Given the description of an element on the screen output the (x, y) to click on. 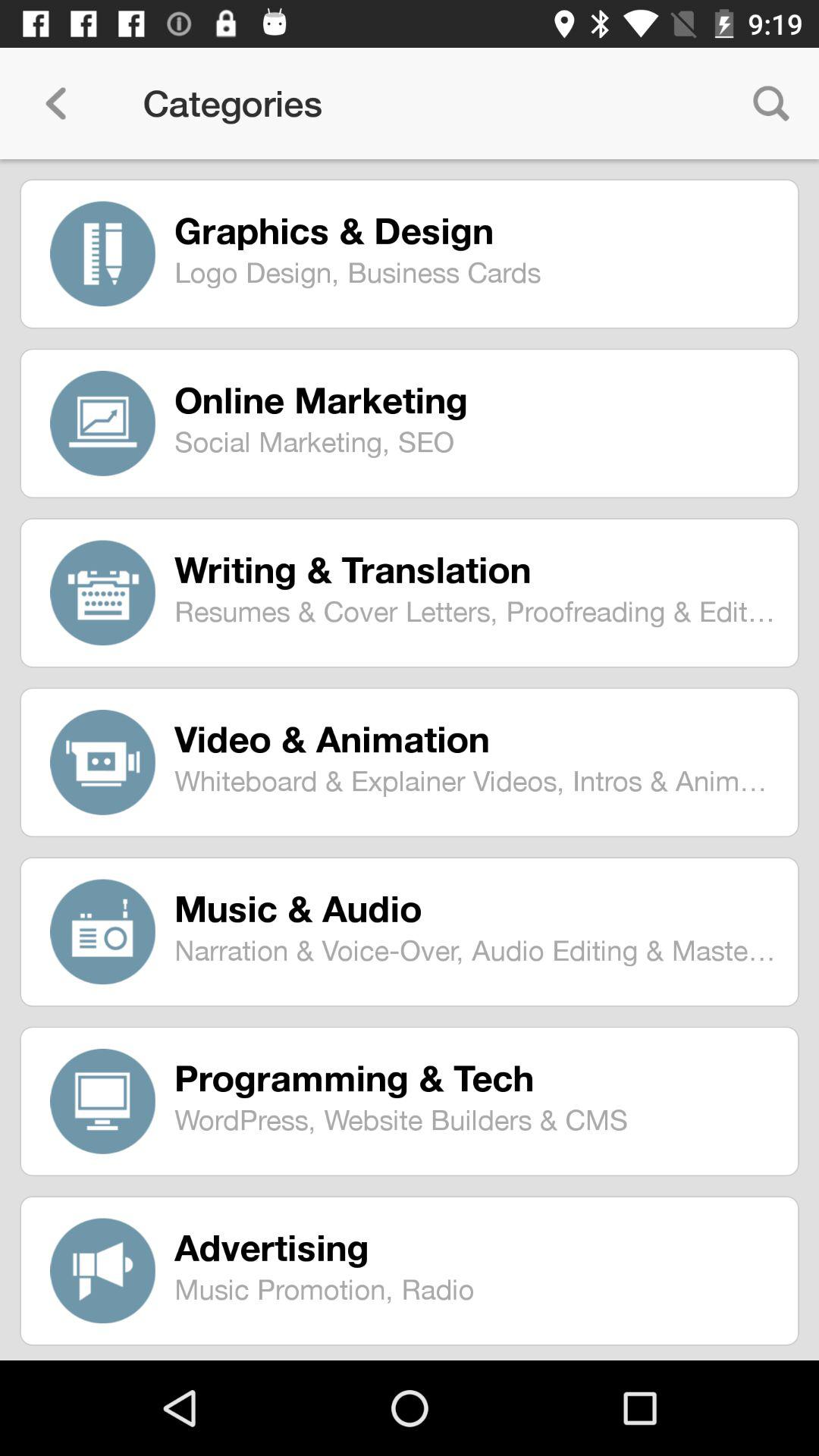
select item next to categories icon (55, 103)
